Given the description of an element on the screen output the (x, y) to click on. 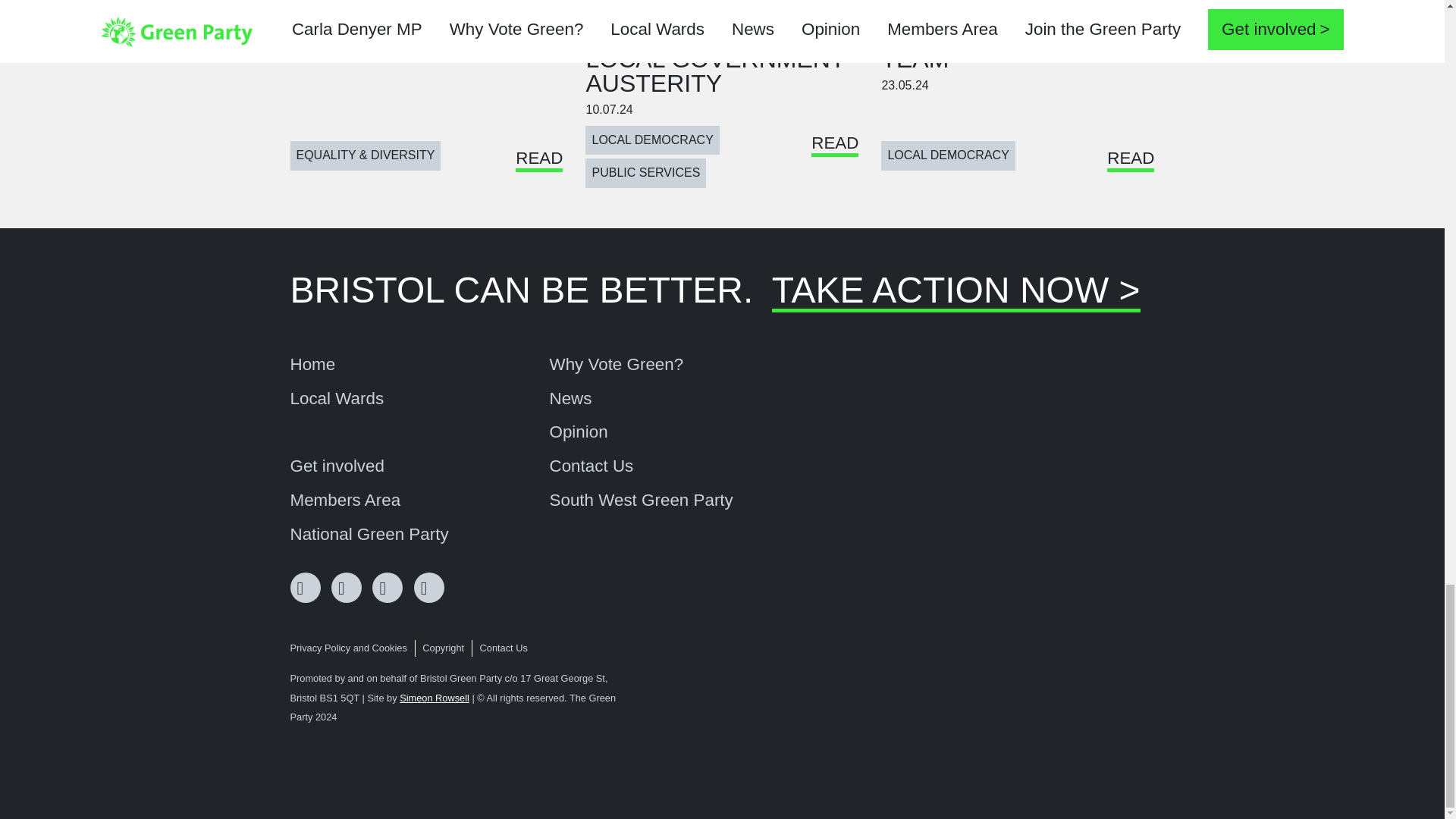
LOCAL DEMOCRACY (947, 154)
PUBLIC SERVICES (645, 172)
News (569, 398)
Why Vote Green? (615, 364)
Local Wards (336, 398)
Home (311, 364)
Green Party Logo (1097, 725)
LOCAL DEMOCRACY (652, 140)
